Given the description of an element on the screen output the (x, y) to click on. 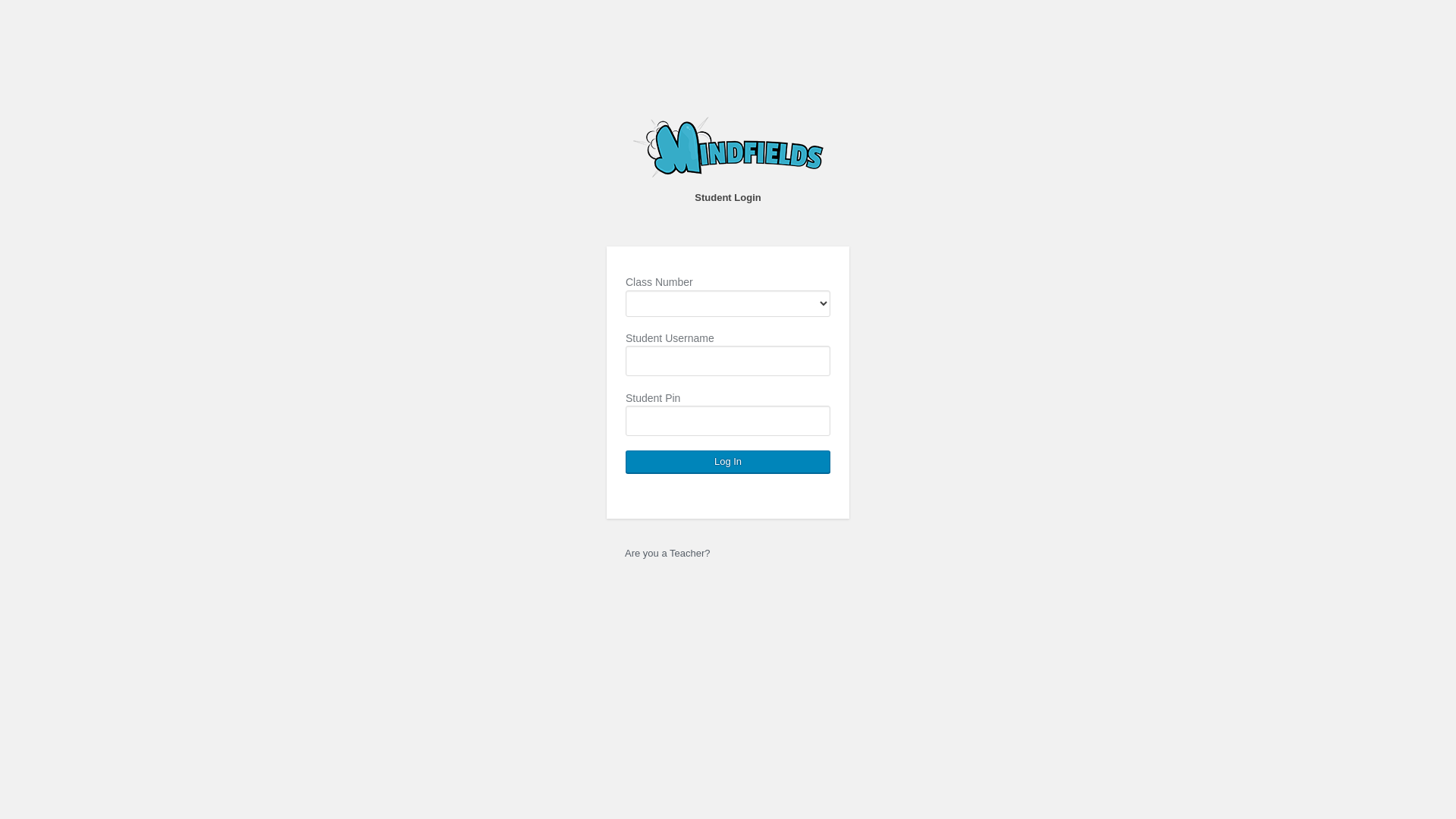
Are you a Teacher? Element type: text (667, 552)
